Given the description of an element on the screen output the (x, y) to click on. 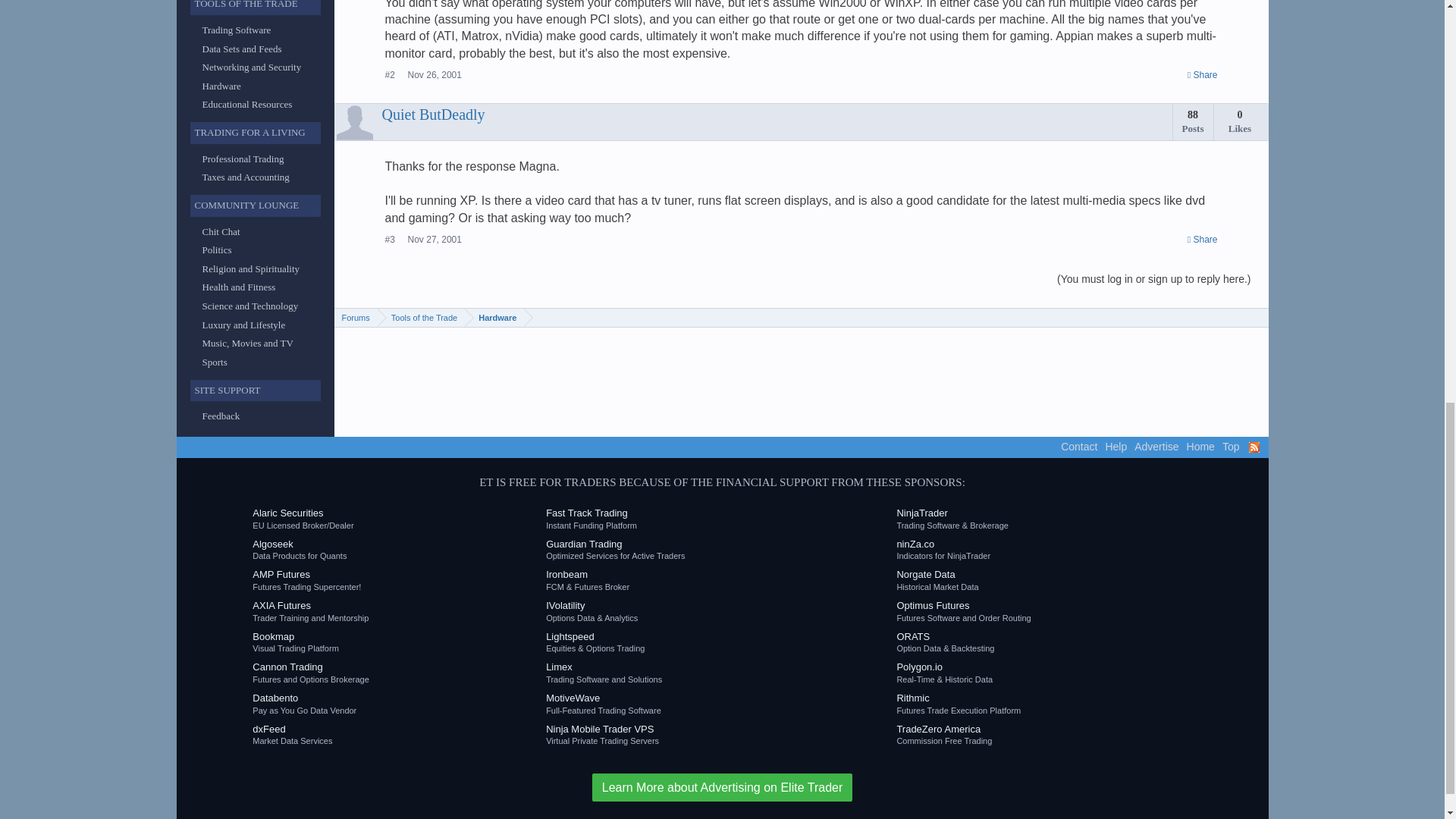
Permalink (434, 239)
Permalink (1202, 75)
Data Sets and Feeds (241, 48)
Permalink (1202, 239)
Taxes and Accounting (245, 176)
Professional Trading (242, 158)
Permalink (434, 74)
Networking and Security (251, 66)
Trading Software (236, 30)
Religion and Spirituality (250, 268)
Hardware (221, 85)
Educational Resources (247, 103)
Chit Chat (221, 231)
RSS feed for Elite Trader (1253, 447)
Politics (216, 249)
